Given the description of an element on the screen output the (x, y) to click on. 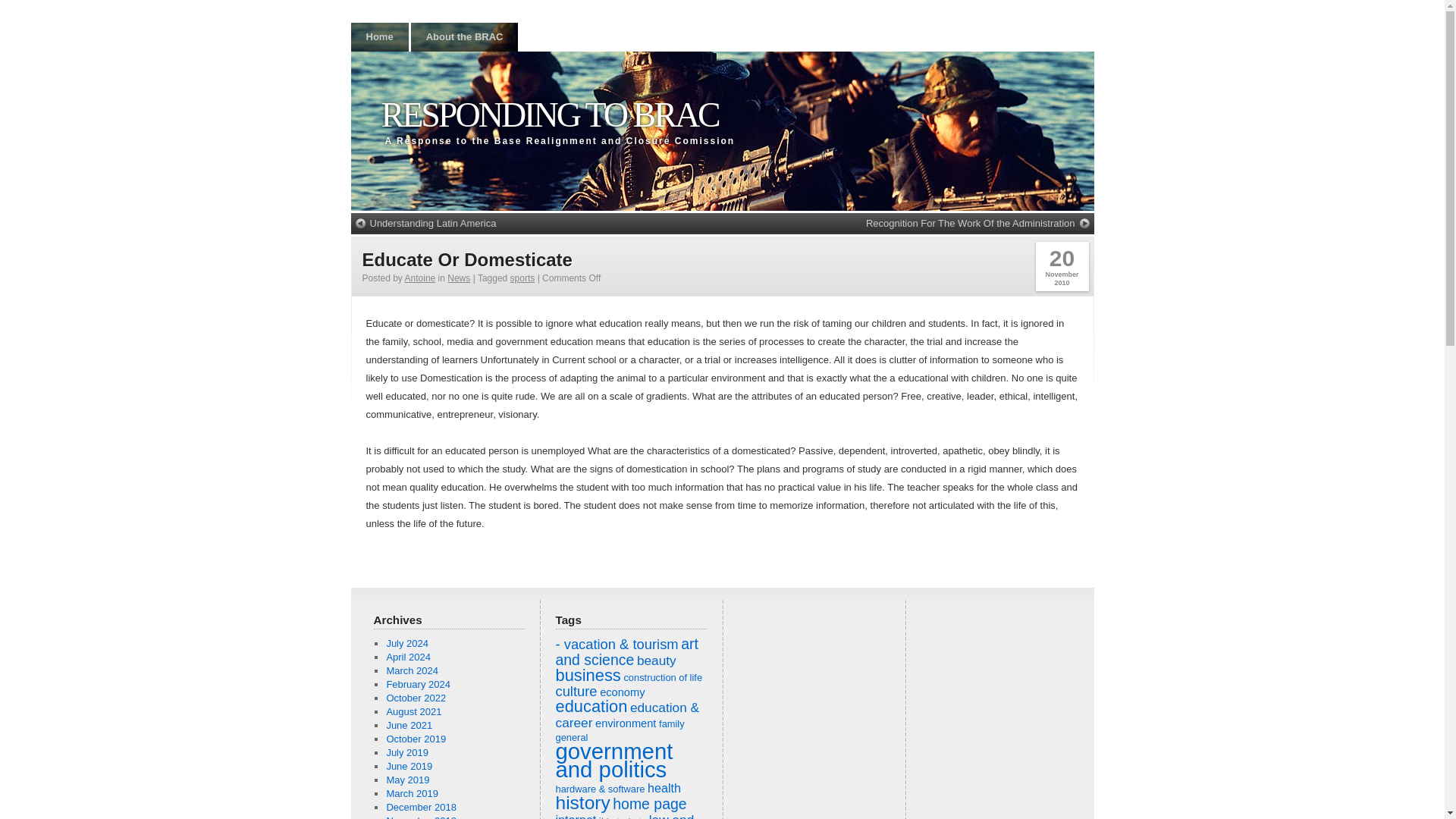
sports (523, 277)
Educate Or Domesticate (467, 259)
December 2018 (1062, 266)
Permalink to Educate Or Domesticate (421, 807)
June 2021 (467, 259)
July 2024 (408, 725)
February 2024 (406, 643)
Understanding Latin America (417, 684)
March 2024 (425, 223)
August 2021 (411, 670)
RESPONDING TO BRAC (413, 711)
April 2024 (548, 114)
Antoine (407, 656)
July 2019 (419, 277)
